Given the description of an element on the screen output the (x, y) to click on. 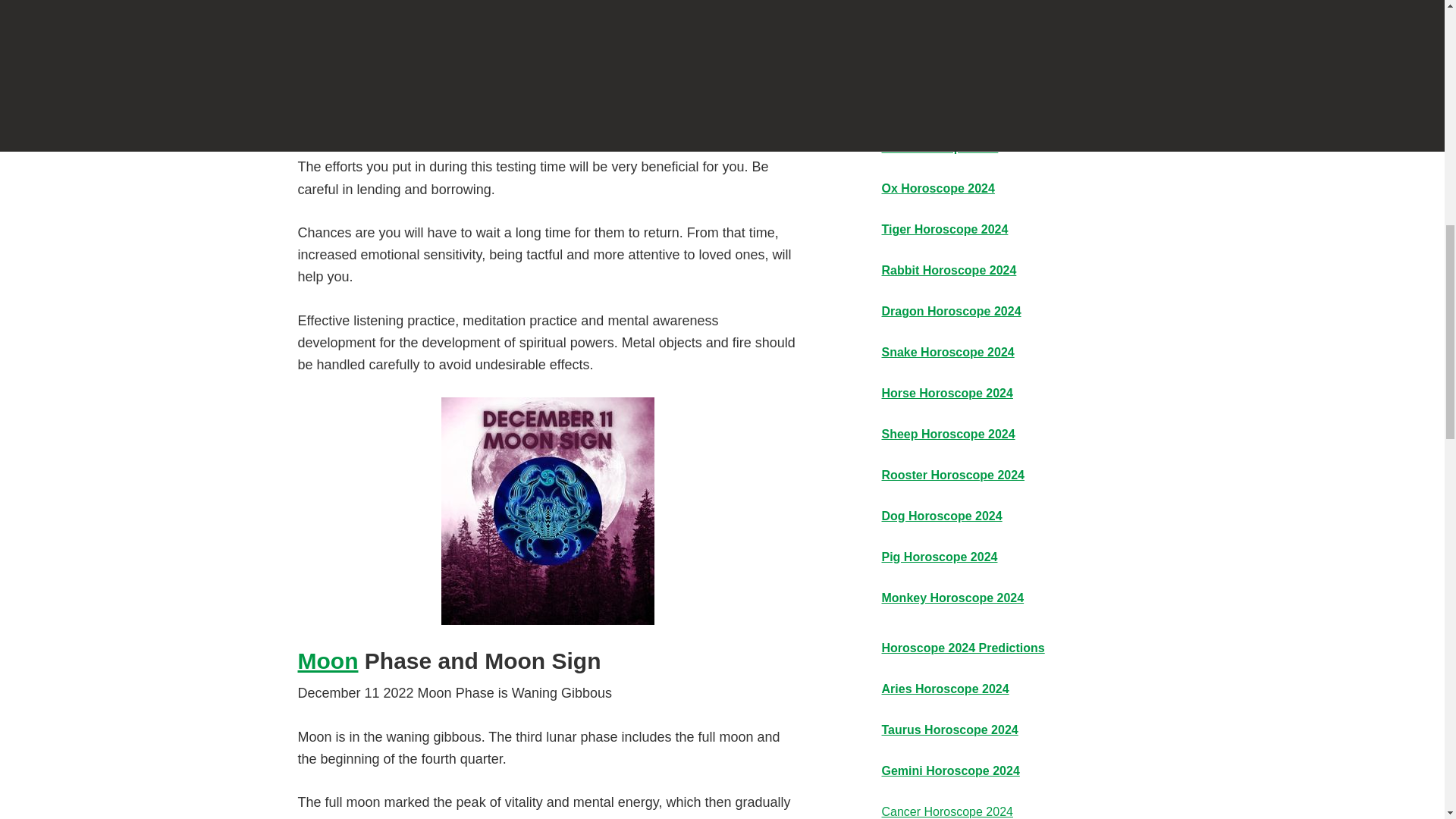
Gemini Horoscope 2024 (949, 770)
Pig Horoscope 2024 (938, 556)
Dragon Horoscope 2024 (950, 310)
Taurus Horoscope 2024 (948, 729)
Ox Horoscope 2024 (937, 187)
Rat Horoscope 2024 (938, 146)
Horse Horoscope 2024 (945, 392)
Dog Horoscope 2024 (940, 515)
Rooster Horoscope 2024 (952, 474)
Sheep Horoscope 2024 (947, 433)
